Given the description of an element on the screen output the (x, y) to click on. 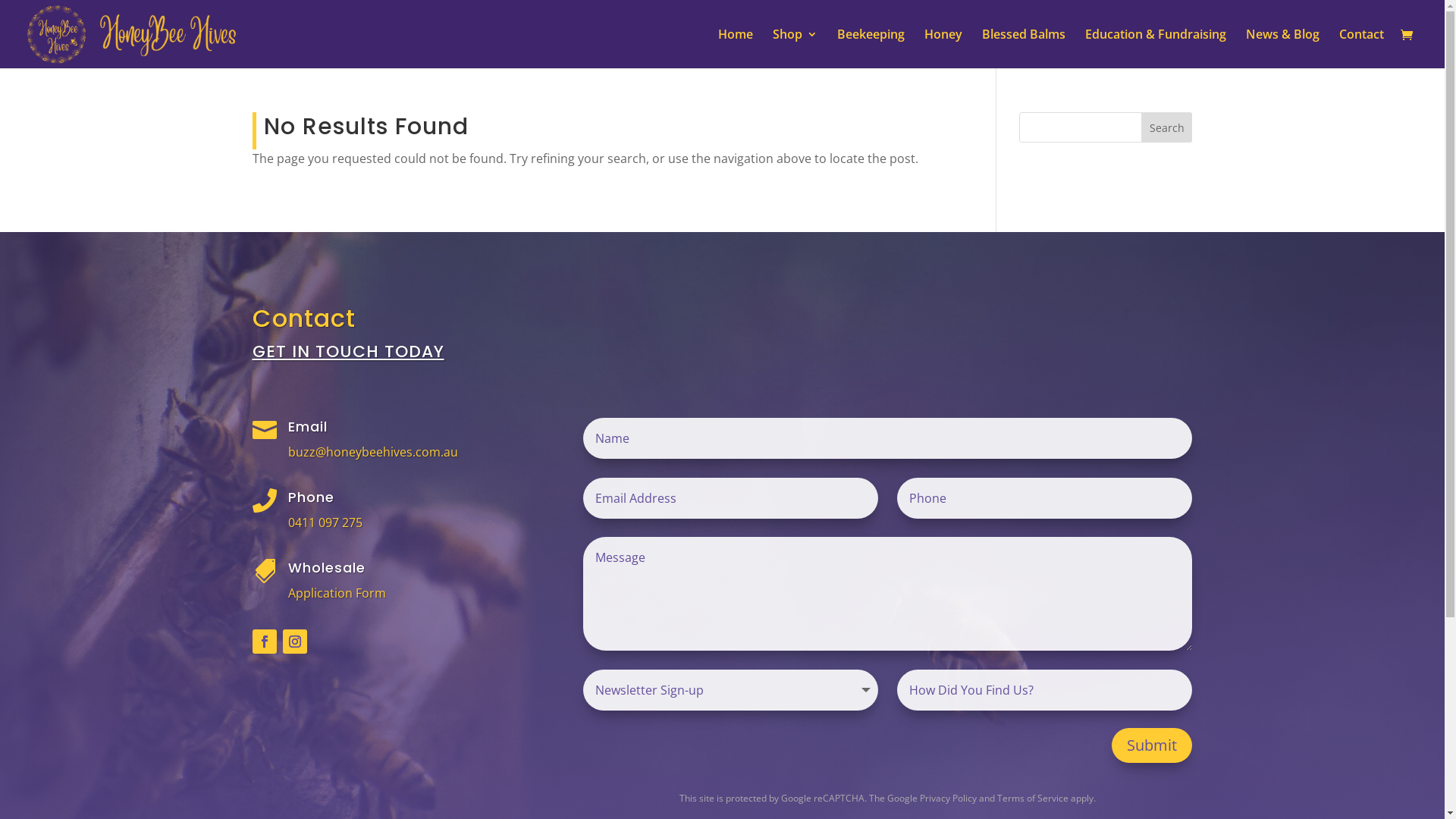
Search Element type: text (1166, 127)
Google Privacy Policy Element type: text (931, 797)
Home Element type: text (735, 48)
Minimum length: 8 characters. Maximum length: 30 characters. Element type: hover (1044, 497)
Honey Element type: text (943, 48)
Application Form Element type: text (336, 592)
Contact Element type: text (1361, 48)
Shop Element type: text (794, 48)
buzz@honeybeehives.com.au Element type: text (373, 451)
Submit Element type: text (1151, 745)
Follow on Facebook Element type: hover (263, 641)
Beekeeping Element type: text (870, 48)
Blessed Balms Element type: text (1023, 48)
0411 097 275 Element type: text (325, 522)
Follow on Instagram Element type: hover (294, 641)
Terms of Service Element type: text (1032, 797)
Education & Fundraising Element type: text (1155, 48)
News & Blog Element type: text (1282, 48)
